Given the description of an element on the screen output the (x, y) to click on. 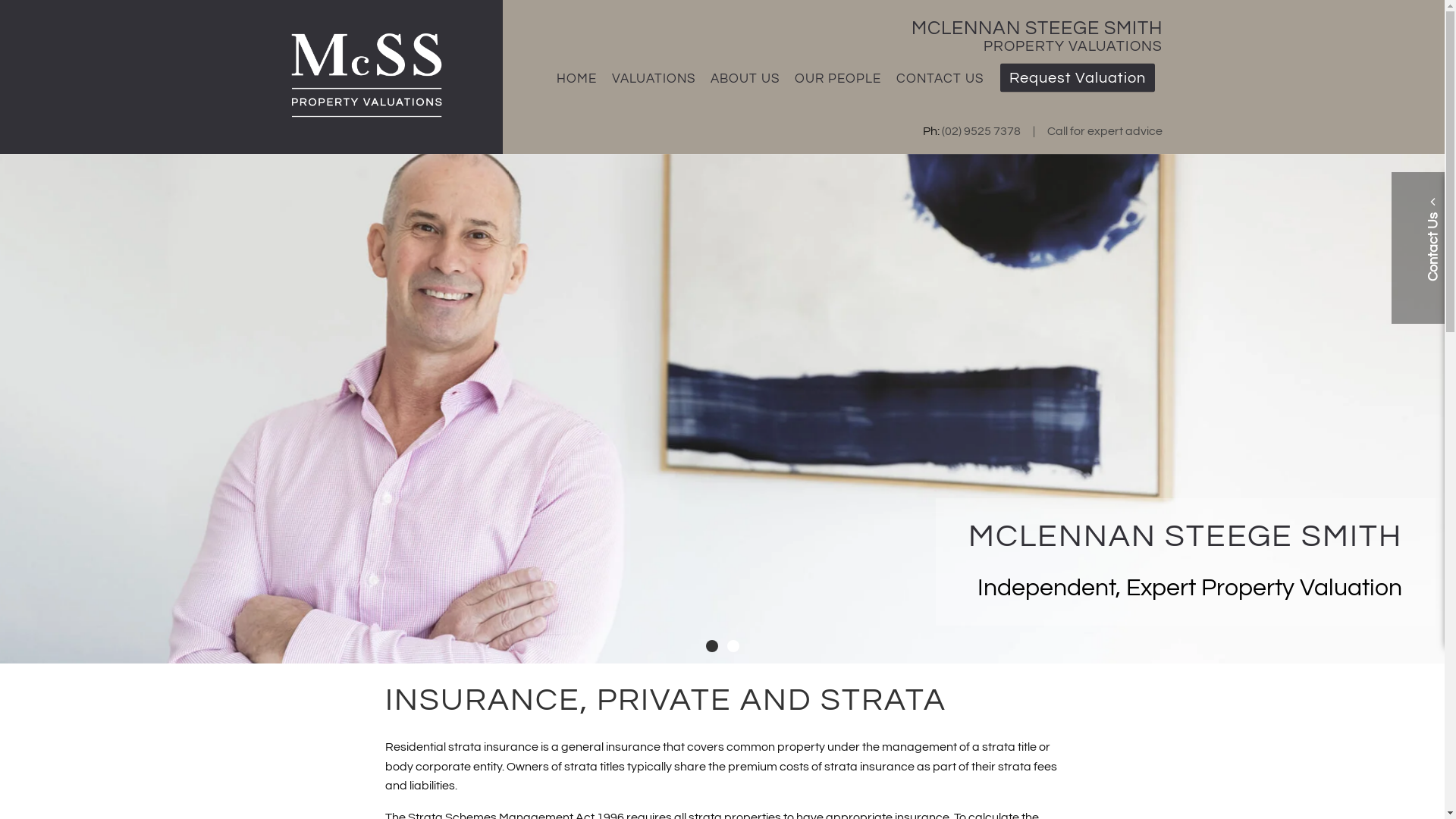
(02) 9525 7378 Element type: text (980, 131)
home Element type: hover (364, 118)
HOME Element type: text (576, 79)
CONTACT US Element type: text (940, 79)
OUR PEOPLE Element type: text (838, 79)
VALUATIONS Element type: text (653, 79)
ABOUT US Element type: text (744, 79)
Request Valuation Element type: text (1076, 77)
